Given the description of an element on the screen output the (x, y) to click on. 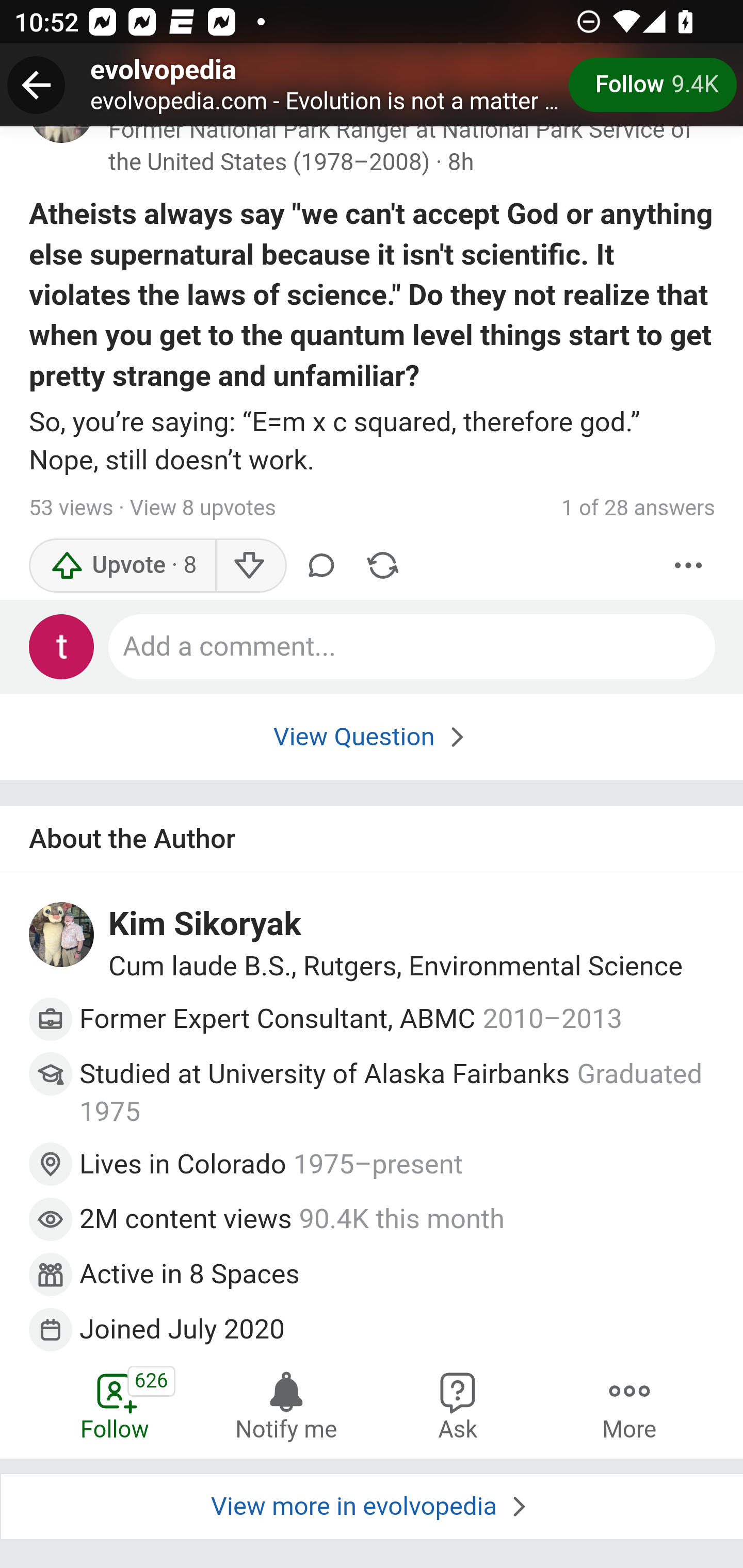
evolvopedia (164, 70)
Follow 9.4K (652, 85)
View 8 upvotes (201, 508)
1 of 28 answers (637, 508)
Upvote (122, 565)
Downvote (249, 565)
Comment (321, 565)
Share (382, 565)
More (688, 565)
Profile photo for Test Appium (61, 646)
Add a comment... (412, 646)
View Question (371, 736)
Profile photo for Kim Sikoryak (61, 936)
Kim Sikoryak (204, 926)
Follow Kim Sikoryak 626 Follow (115, 1404)
Notify me (285, 1404)
Ask (458, 1404)
More (628, 1404)
View more in evolvopedia (371, 1506)
